Given the description of an element on the screen output the (x, y) to click on. 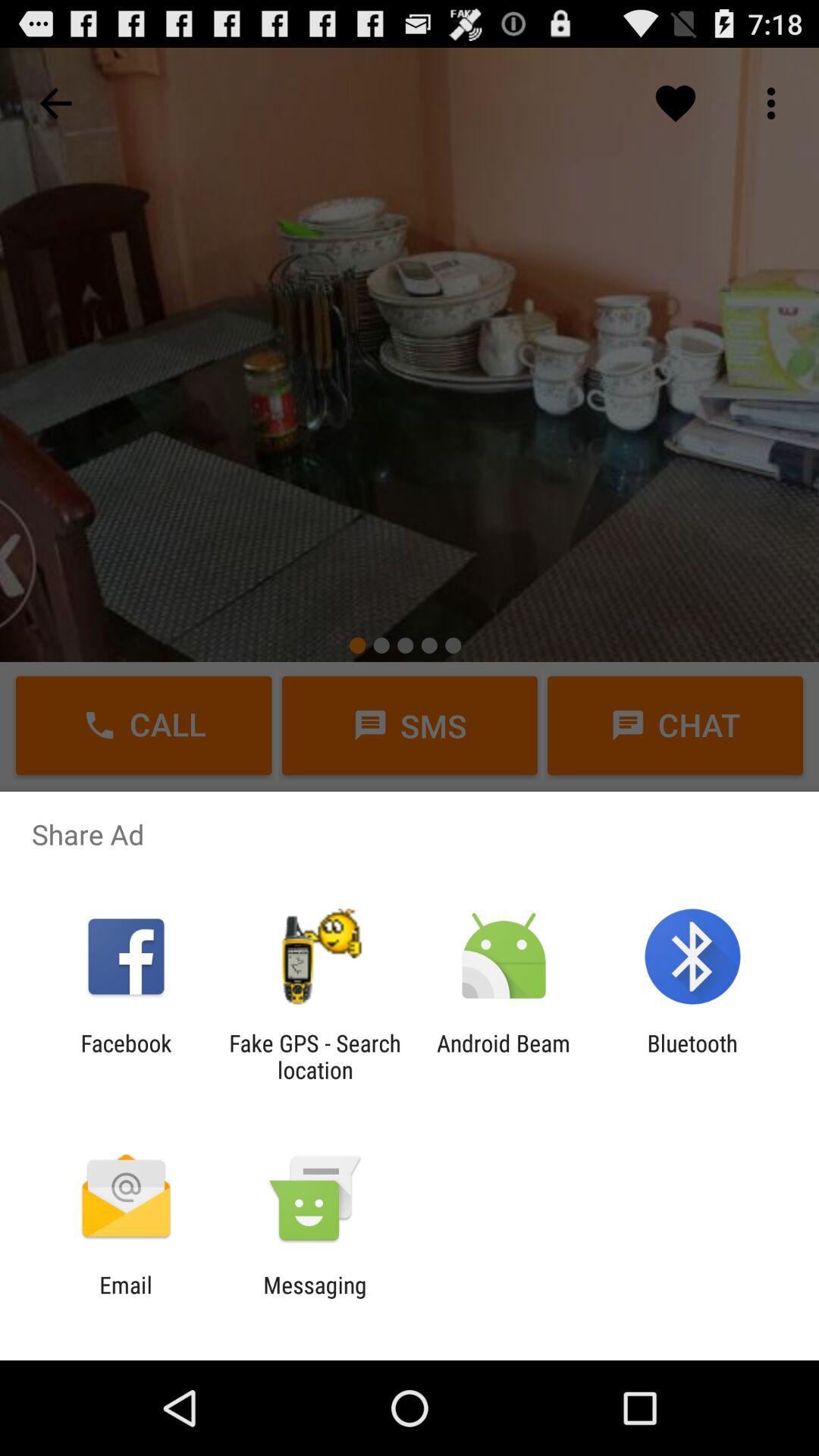
select the fake gps search (314, 1056)
